Given the description of an element on the screen output the (x, y) to click on. 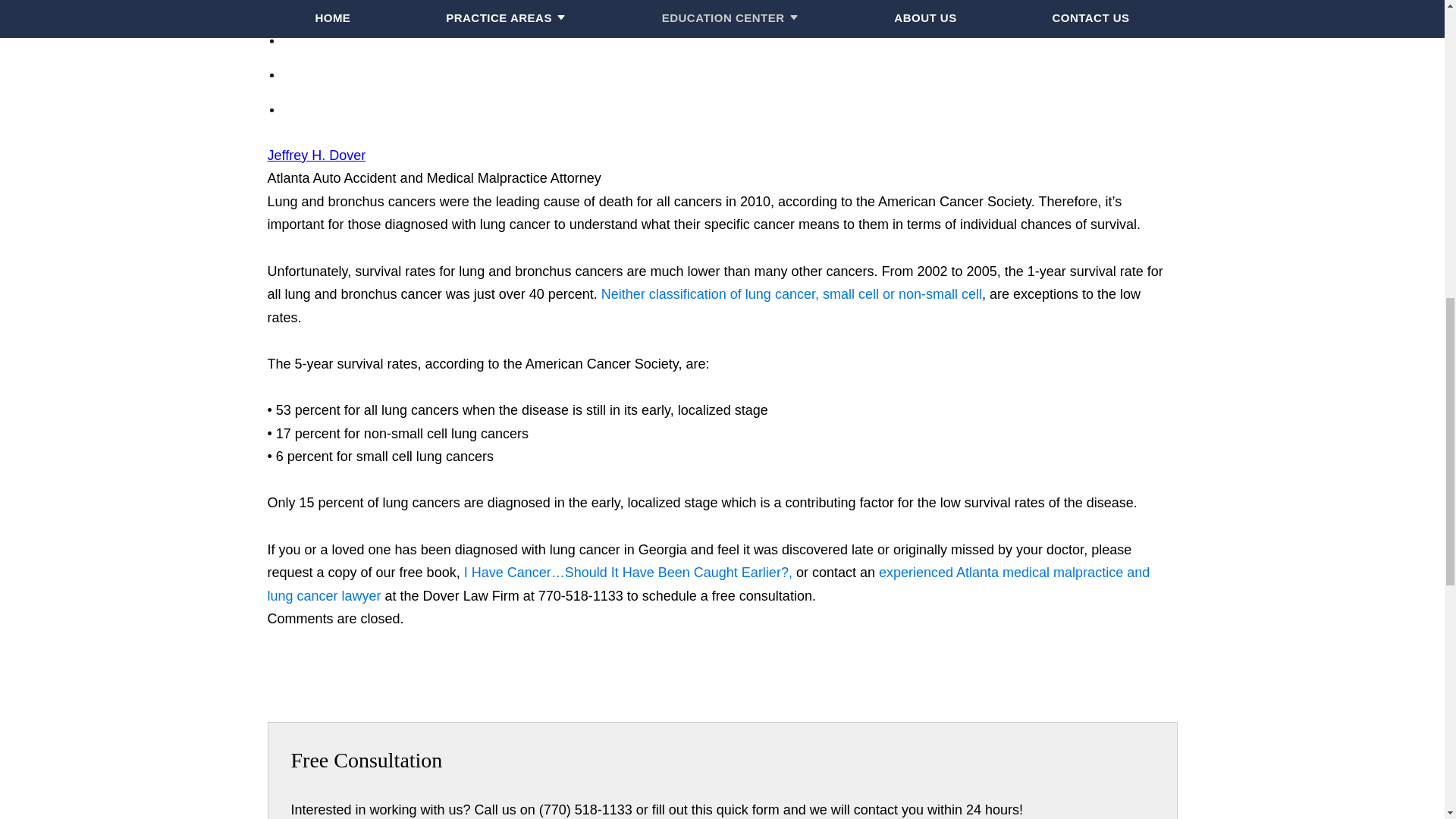
Jeffrey H. Dover (315, 155)
